Given the description of an element on the screen output the (x, y) to click on. 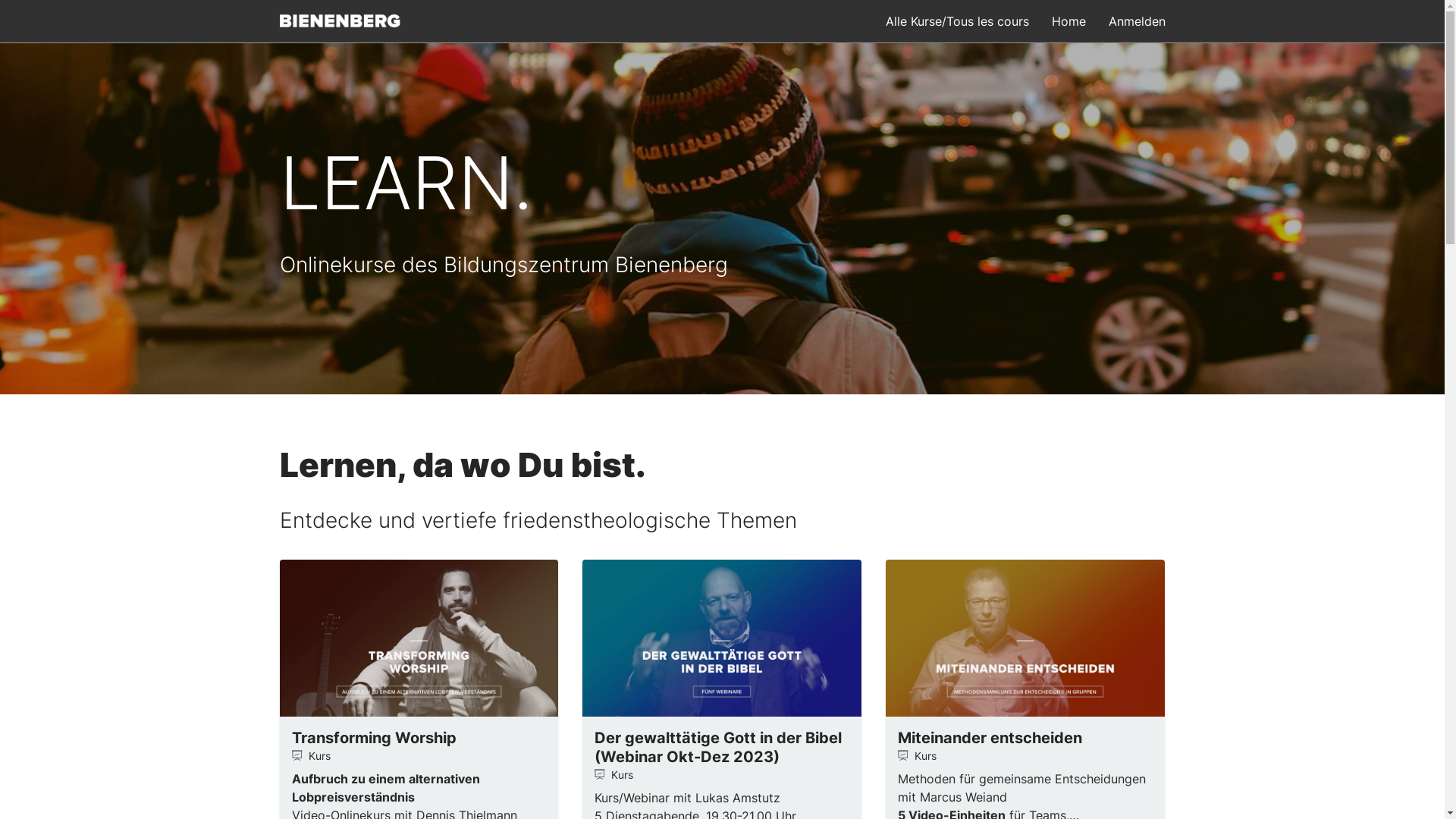
BIENENBERG Element type: text (339, 20)
Home Element type: text (1068, 20)
Alle Kurse/Tous les cours Element type: text (957, 20)
Anmelden Element type: text (1136, 20)
